Given the description of an element on the screen output the (x, y) to click on. 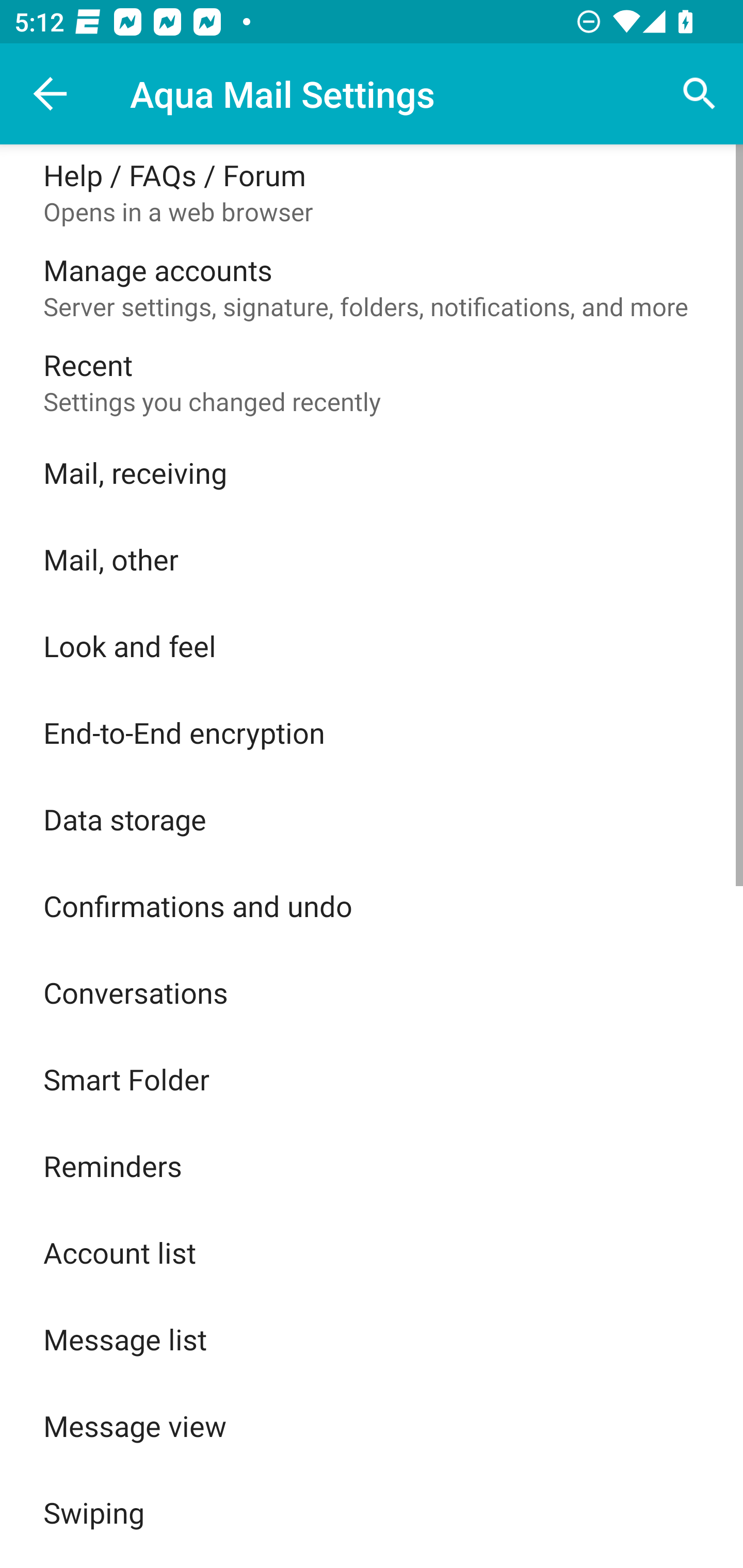
Navigate up (50, 93)
Search (699, 93)
Help / FAQs / Forum Opens in a web browser (371, 191)
Recent Settings you changed recently (371, 381)
Mail, receiving (371, 472)
Mail, other (371, 558)
Look and feel (371, 645)
End-to-End encryption (371, 732)
Data storage (371, 819)
Confirmations and undo (371, 905)
Conversations (371, 992)
Smart Folder (371, 1079)
Reminders (371, 1165)
Account list (371, 1251)
Message list (371, 1338)
Message view (371, 1425)
Swiping (371, 1512)
